Given the description of an element on the screen output the (x, y) to click on. 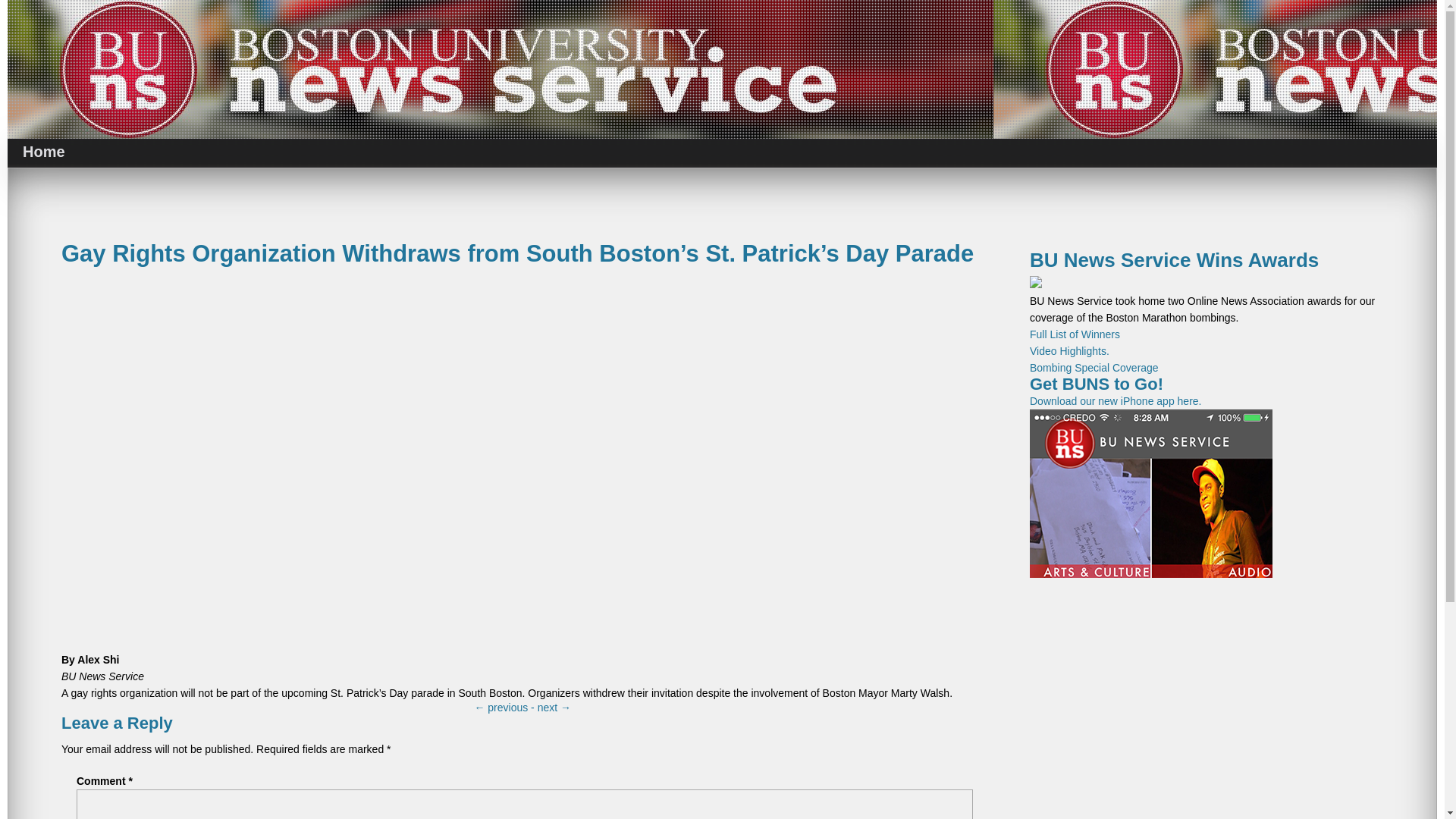
Full List of Winners (1074, 334)
Home (43, 151)
Bombing Special Coverage (1093, 367)
Download our new iPhone app here. (1150, 486)
Video Highlights. (1069, 350)
